Given the description of an element on the screen output the (x, y) to click on. 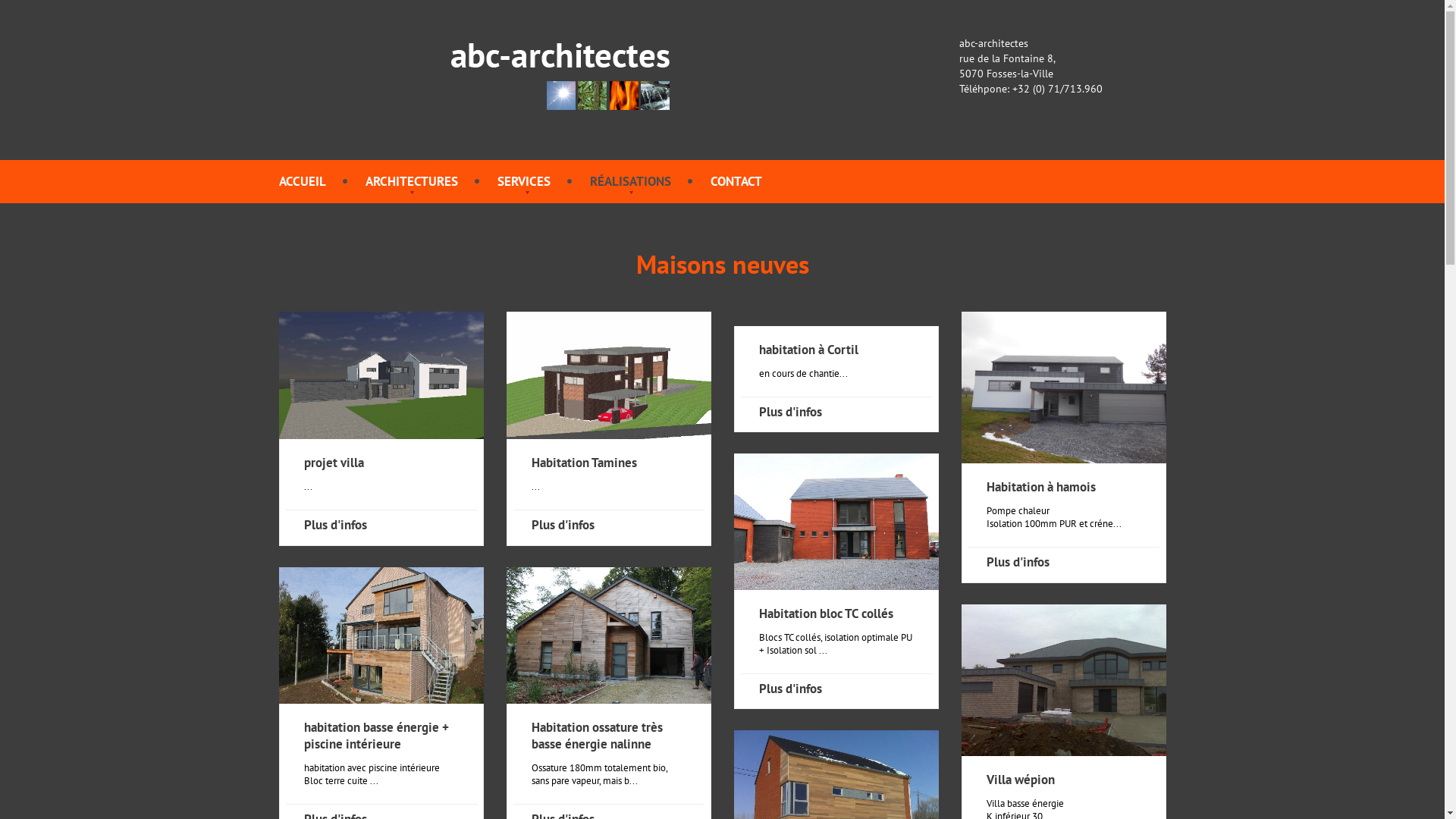
CONTACT Element type: text (735, 180)
Plus d'infos Element type: text (789, 688)
Plus d'infos Element type: text (334, 524)
SERVICES Element type: text (523, 180)
Plus d'infos Element type: text (1016, 561)
ARCHITECTURES Element type: text (411, 180)
Plus d'infos Element type: text (789, 411)
Plus d'infos Element type: text (561, 524)
ACCUEIL Element type: text (302, 180)
